Given the description of an element on the screen output the (x, y) to click on. 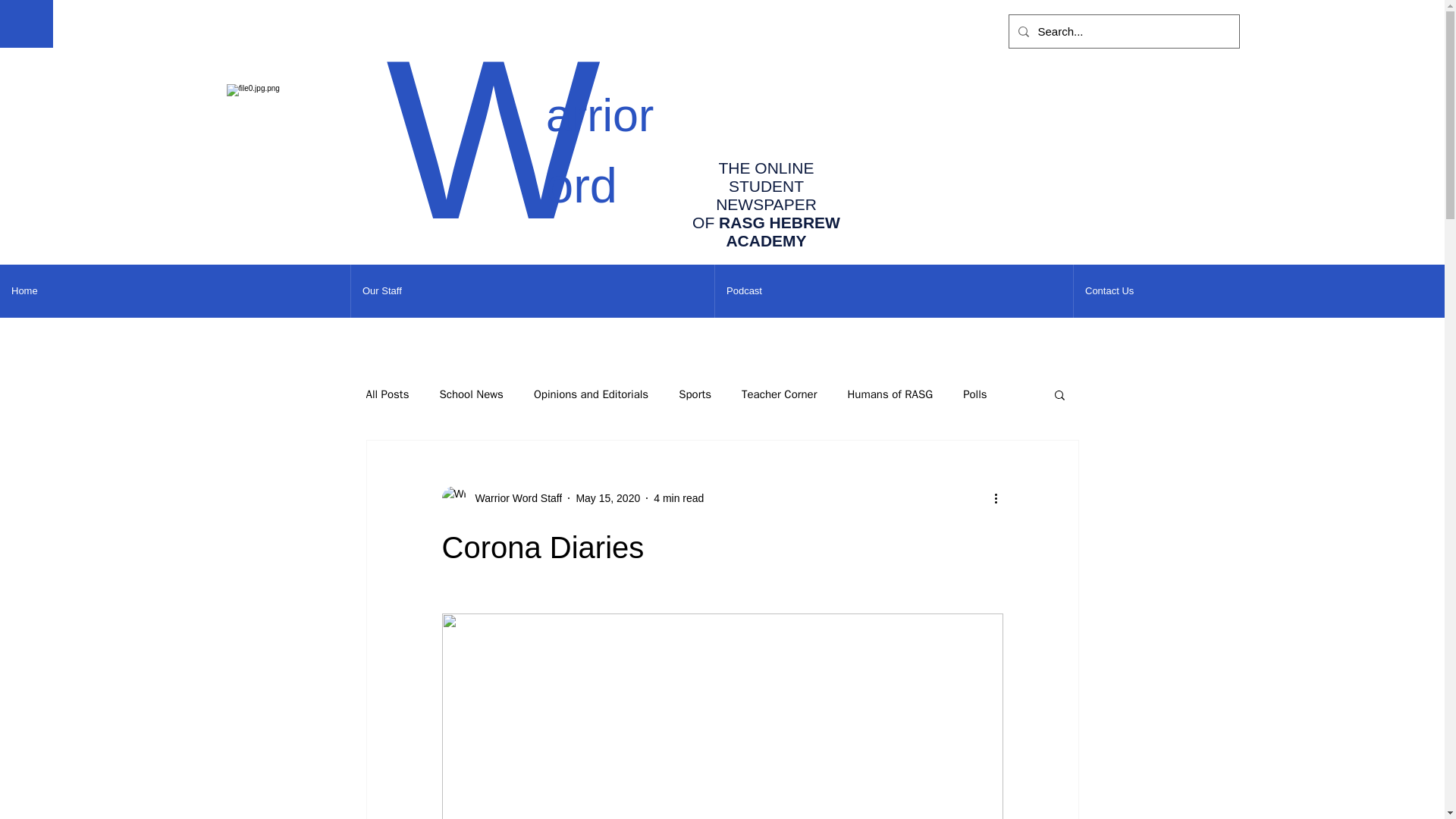
4 min read (678, 497)
Humans of RASG (890, 393)
All Posts (387, 393)
Home (175, 290)
School News (470, 393)
Teacher Corner (778, 393)
Warrior Word Staff (501, 498)
Warrior Word Staff (513, 497)
Sports (694, 393)
Opinions and Editorials (590, 393)
